Given the description of an element on the screen output the (x, y) to click on. 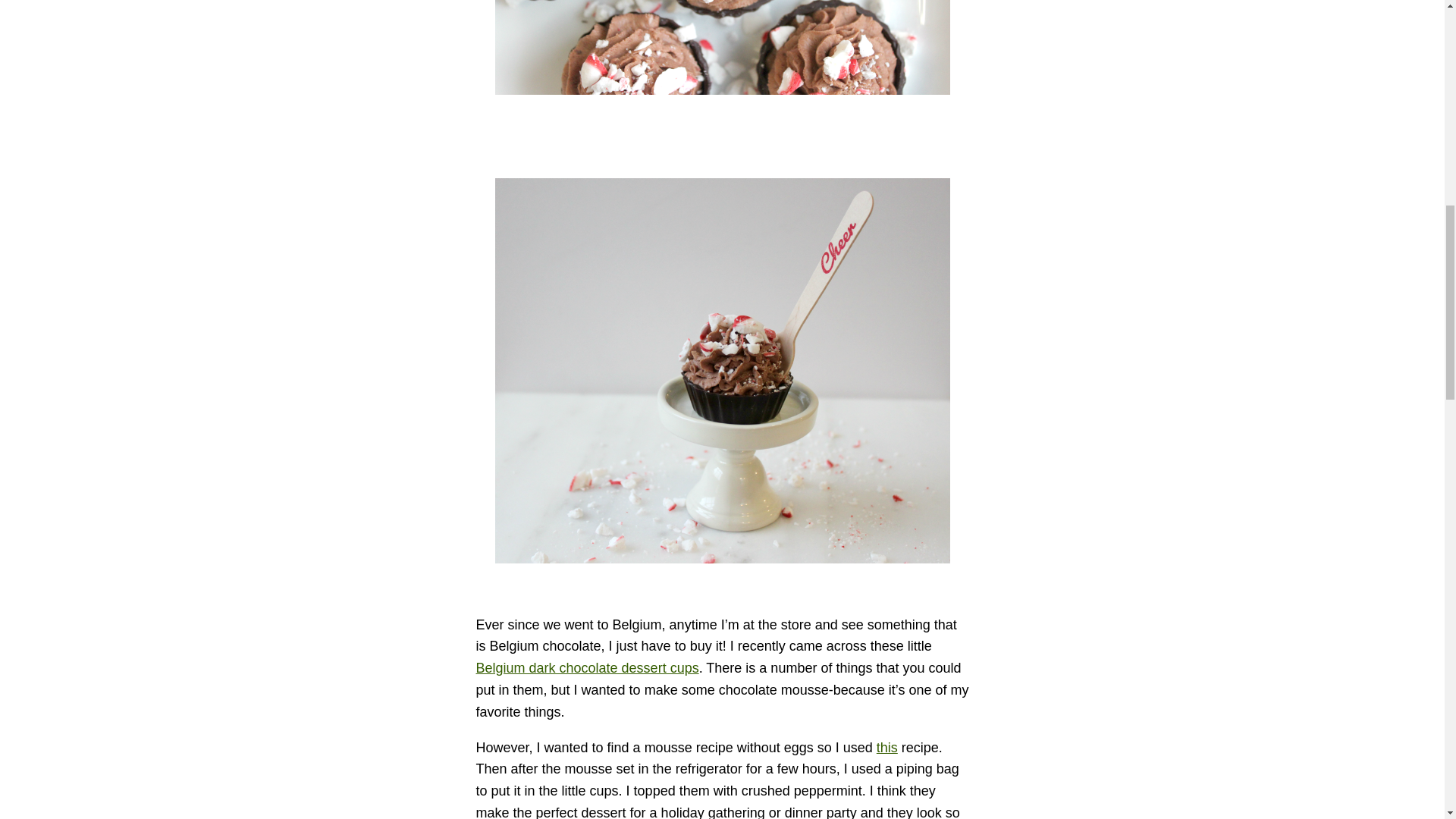
Belgium dark chocolate dessert cups (587, 667)
this (887, 747)
